Given the description of an element on the screen output the (x, y) to click on. 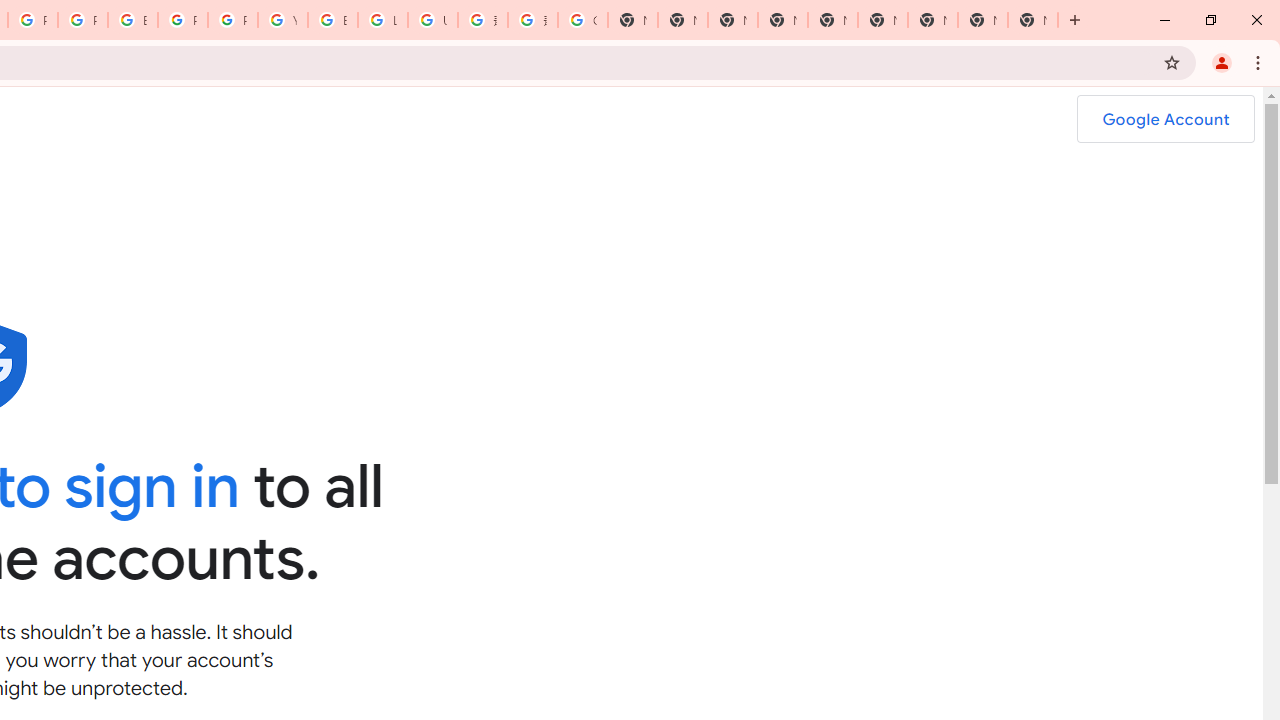
Privacy Help Center - Policies Help (82, 20)
New Tab (1032, 20)
